Given the description of an element on the screen output the (x, y) to click on. 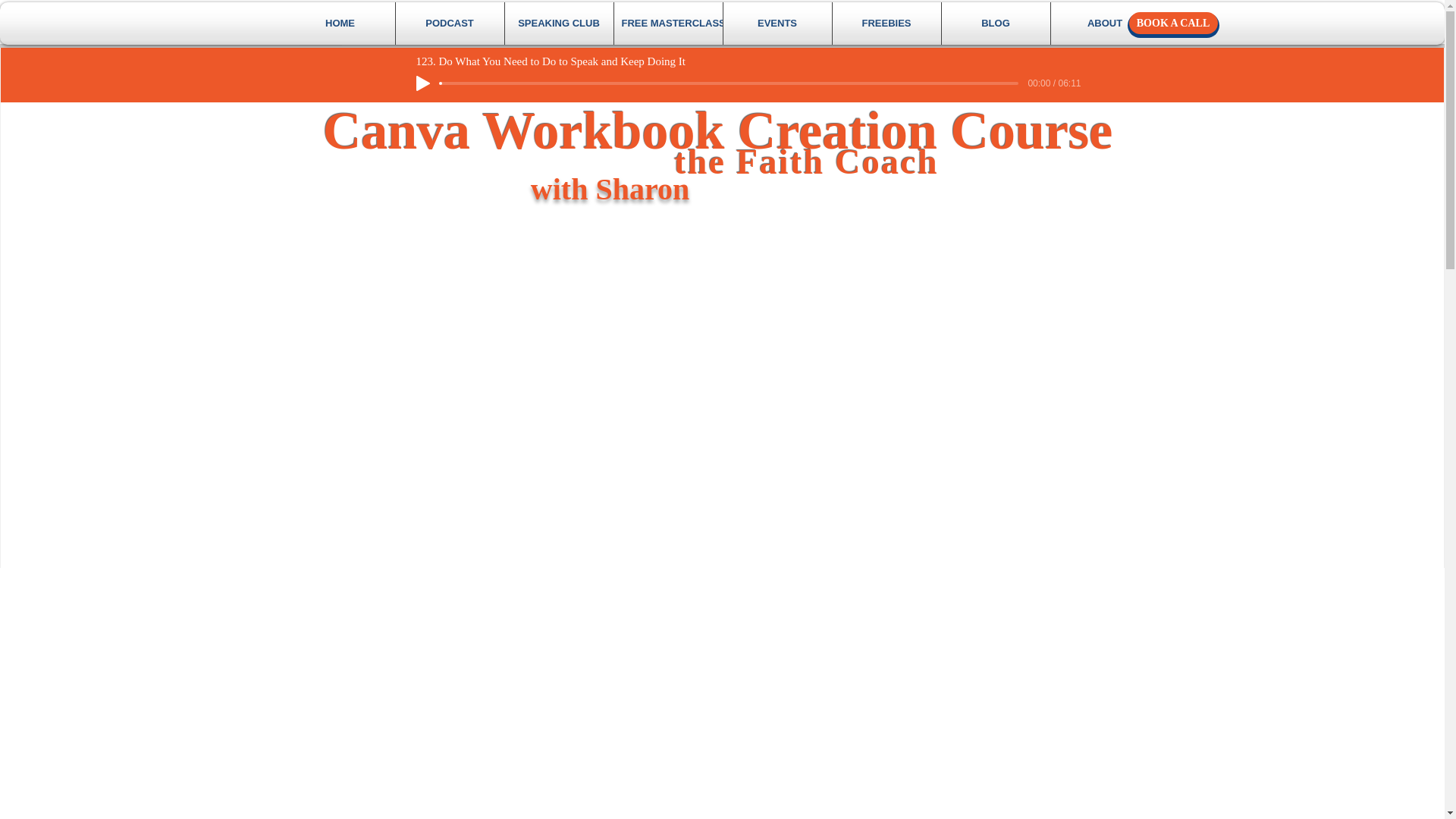
HOME (339, 23)
PODCAST (449, 23)
ABOUT (1104, 23)
FREEBIES (886, 23)
BLOG (995, 23)
SPEAKING CLUB (558, 23)
Favicon WOM Logo.png (319, 24)
EVENTS (777, 23)
BOOK A CALL (1172, 23)
0 (728, 83)
